Given the description of an element on the screen output the (x, y) to click on. 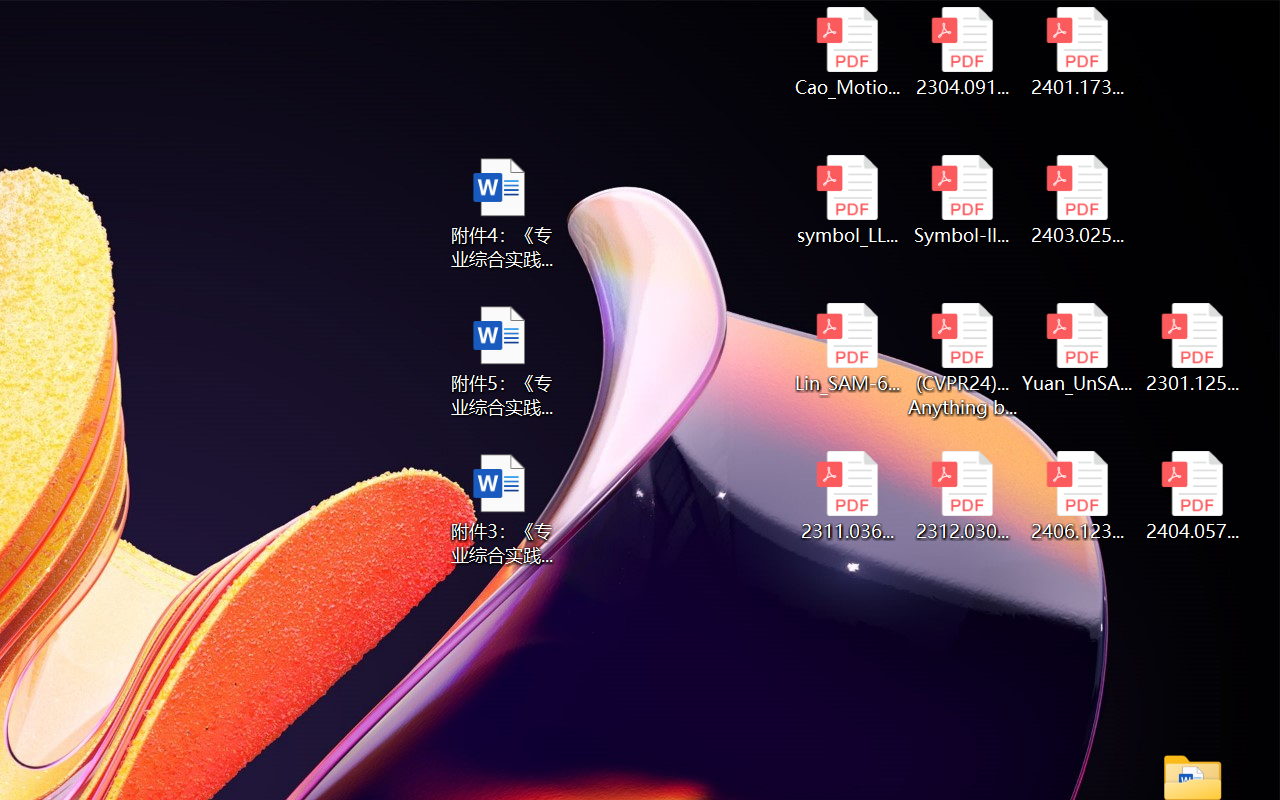
2301.12597v3.pdf (1192, 348)
